Given the description of an element on the screen output the (x, y) to click on. 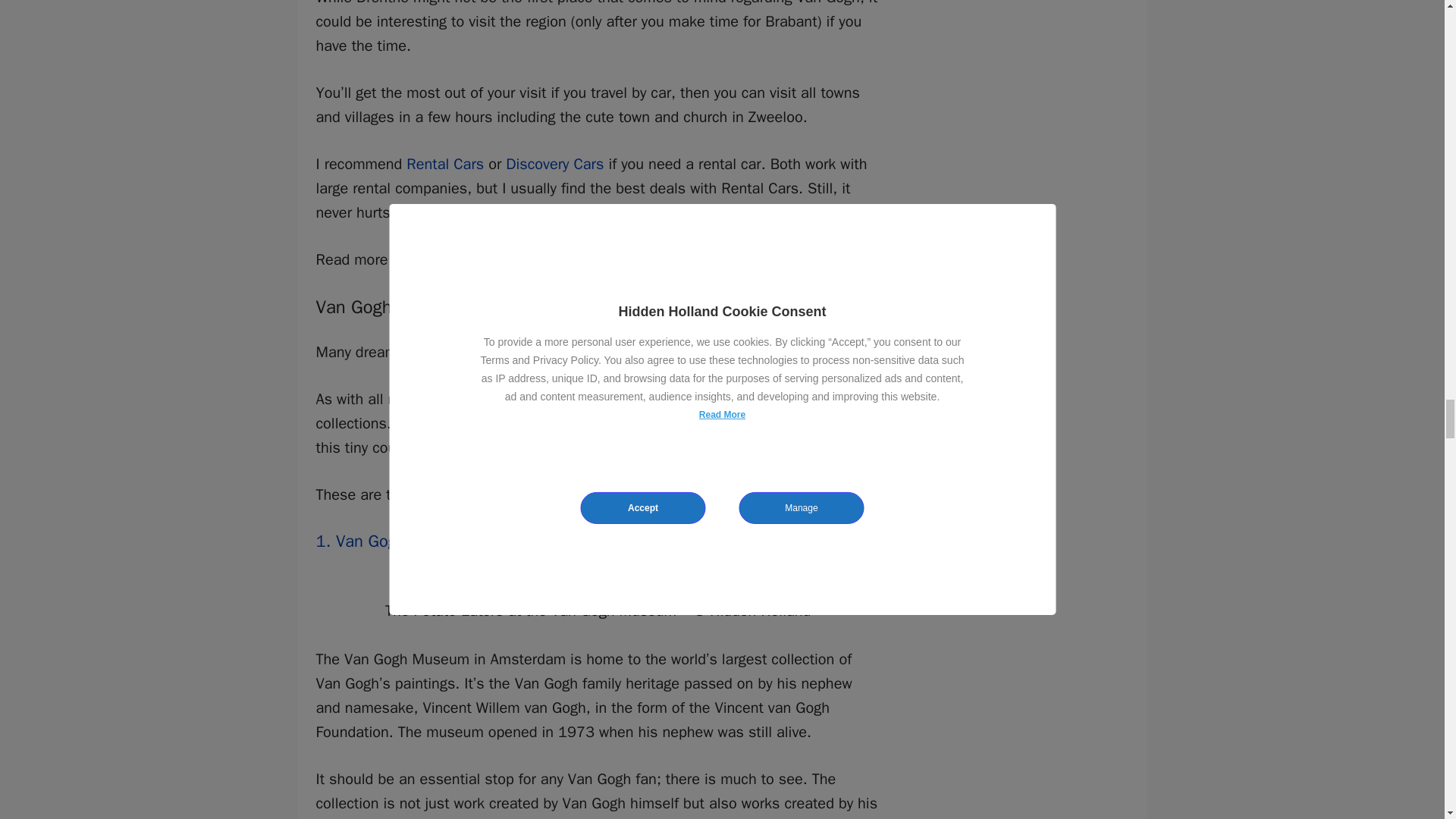
the-potato-eaters-van-gogh-museum (597, 586)
